Given the description of an element on the screen output the (x, y) to click on. 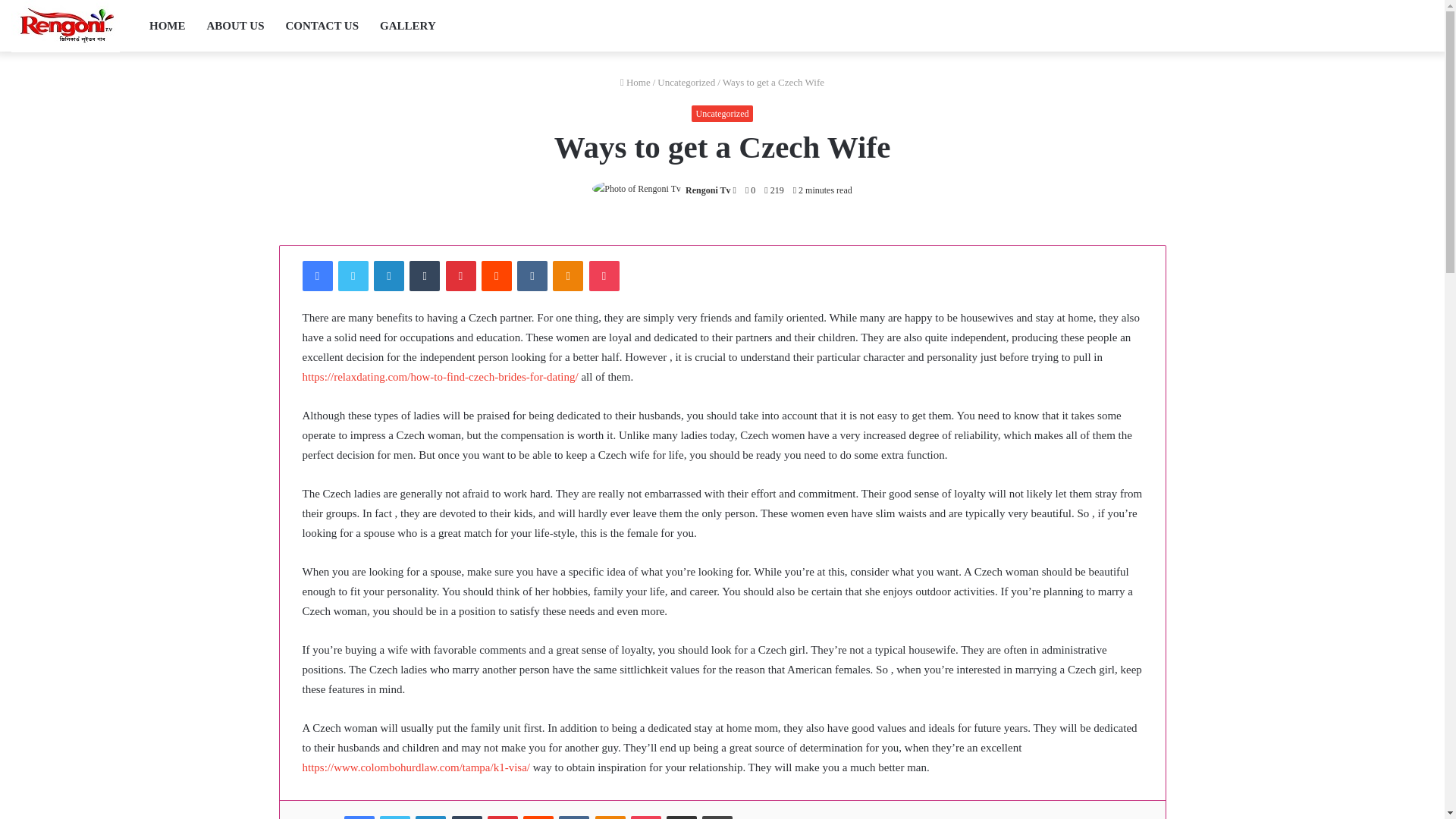
CONTACT US (322, 25)
LinkedIn (389, 276)
VKontakte (531, 276)
Odnoklassniki (568, 276)
Rengoni Tv (65, 26)
Twitter (352, 276)
Rengoni Tv (707, 190)
Tumblr (424, 276)
Facebook (358, 817)
Pocket (603, 276)
Uncategorized (722, 113)
Reddit (496, 276)
VKontakte (531, 276)
Odnoklassniki (568, 276)
HOME (167, 25)
